Given the description of an element on the screen output the (x, y) to click on. 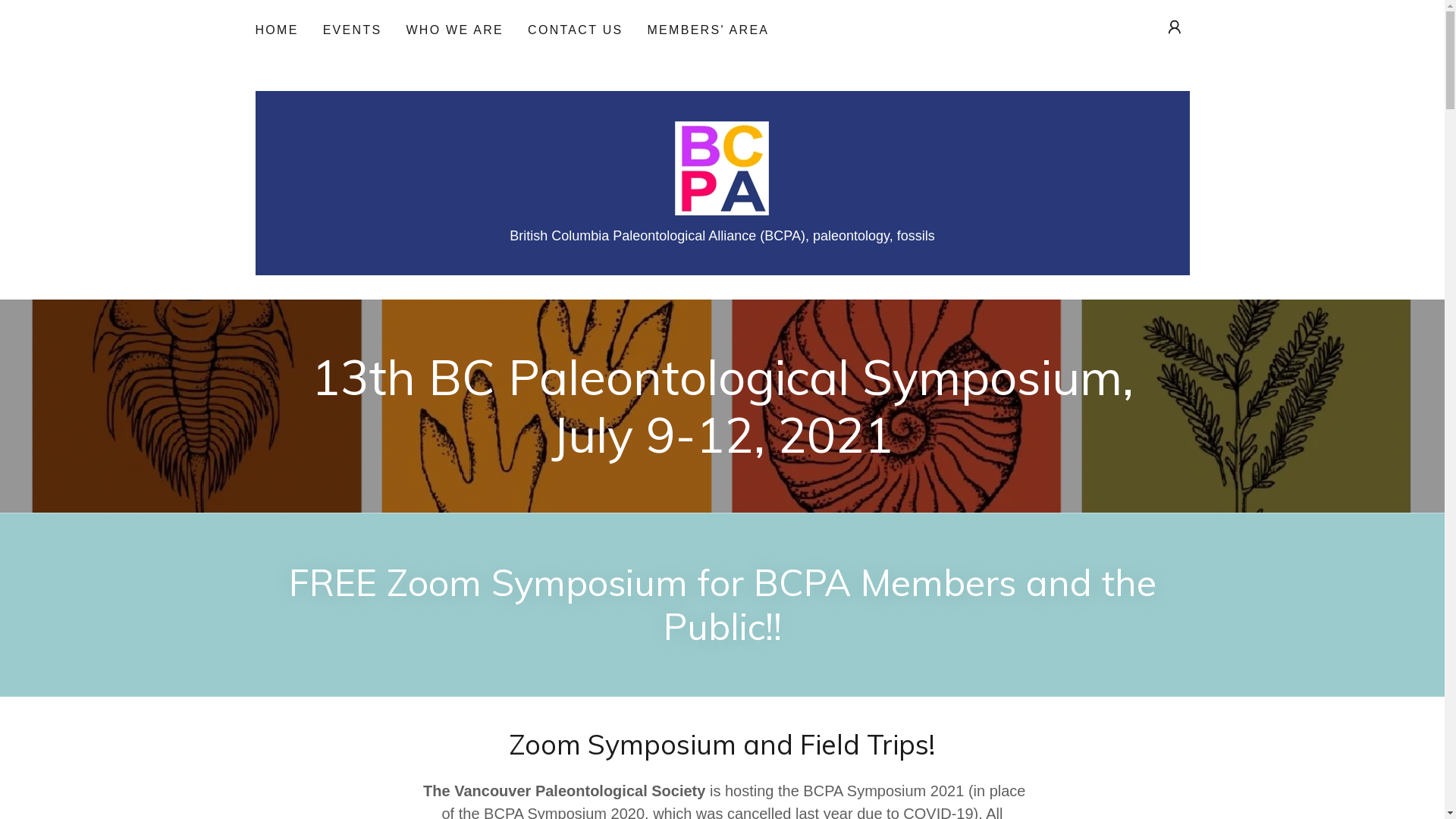
HOME Element type: text (276, 29)
EVENTS Element type: text (352, 29)
BCPA Element type: hover (721, 167)
CONTACT US Element type: text (575, 29)
MEMBERS' AREA Element type: text (707, 29)
WHO WE ARE Element type: text (454, 29)
